Given the description of an element on the screen output the (x, y) to click on. 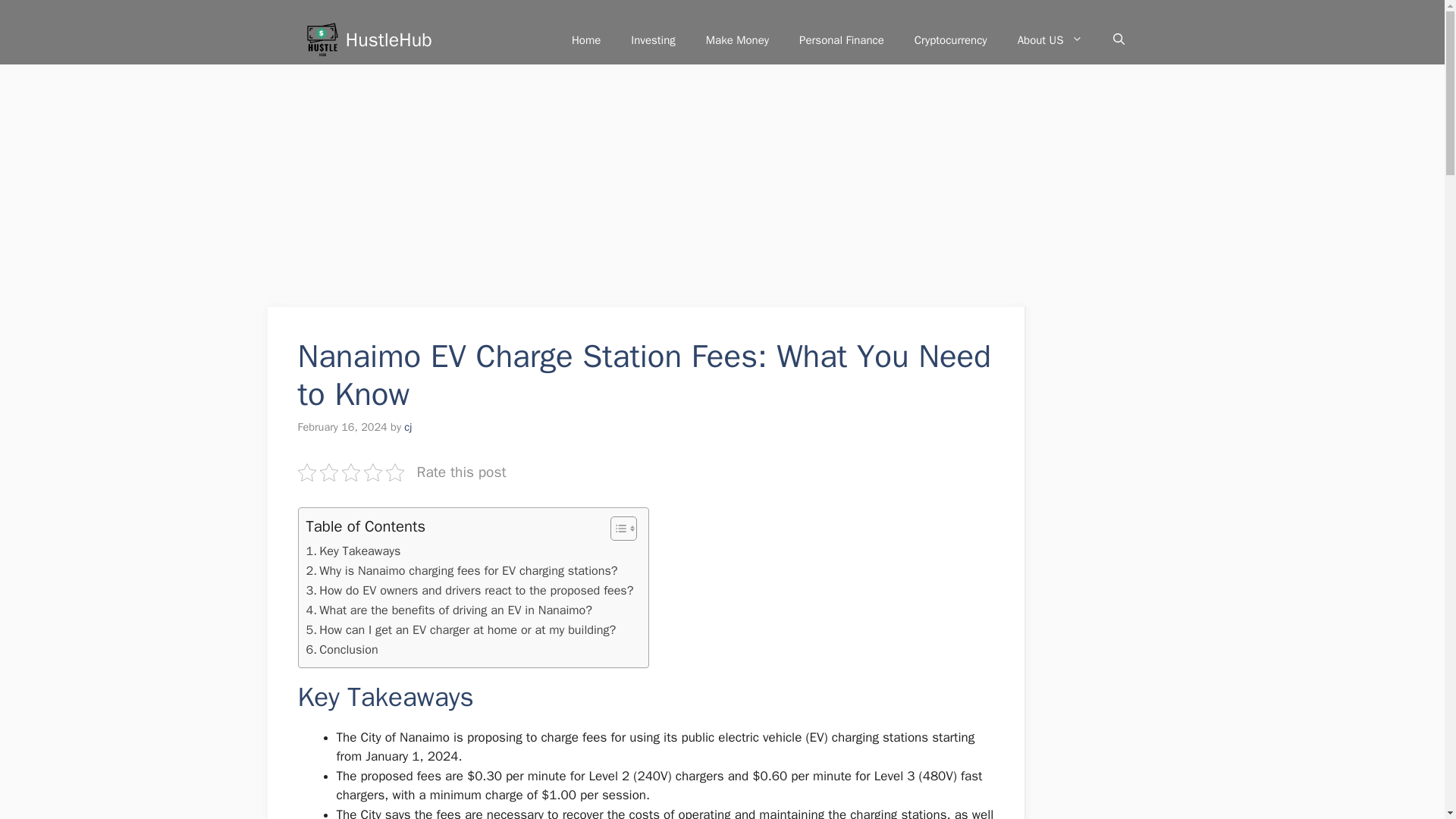
Make Money (737, 39)
Home (585, 39)
What are the benefits of driving an EV in Nanaimo? (448, 609)
Cryptocurrency (951, 39)
HustleHub (389, 39)
How can I get an EV charger at home or at my building? (460, 629)
Conclusion (341, 649)
Key Takeaways (353, 551)
What are the benefits of driving an EV in Nanaimo? (448, 609)
About US (1050, 39)
